Given the description of an element on the screen output the (x, y) to click on. 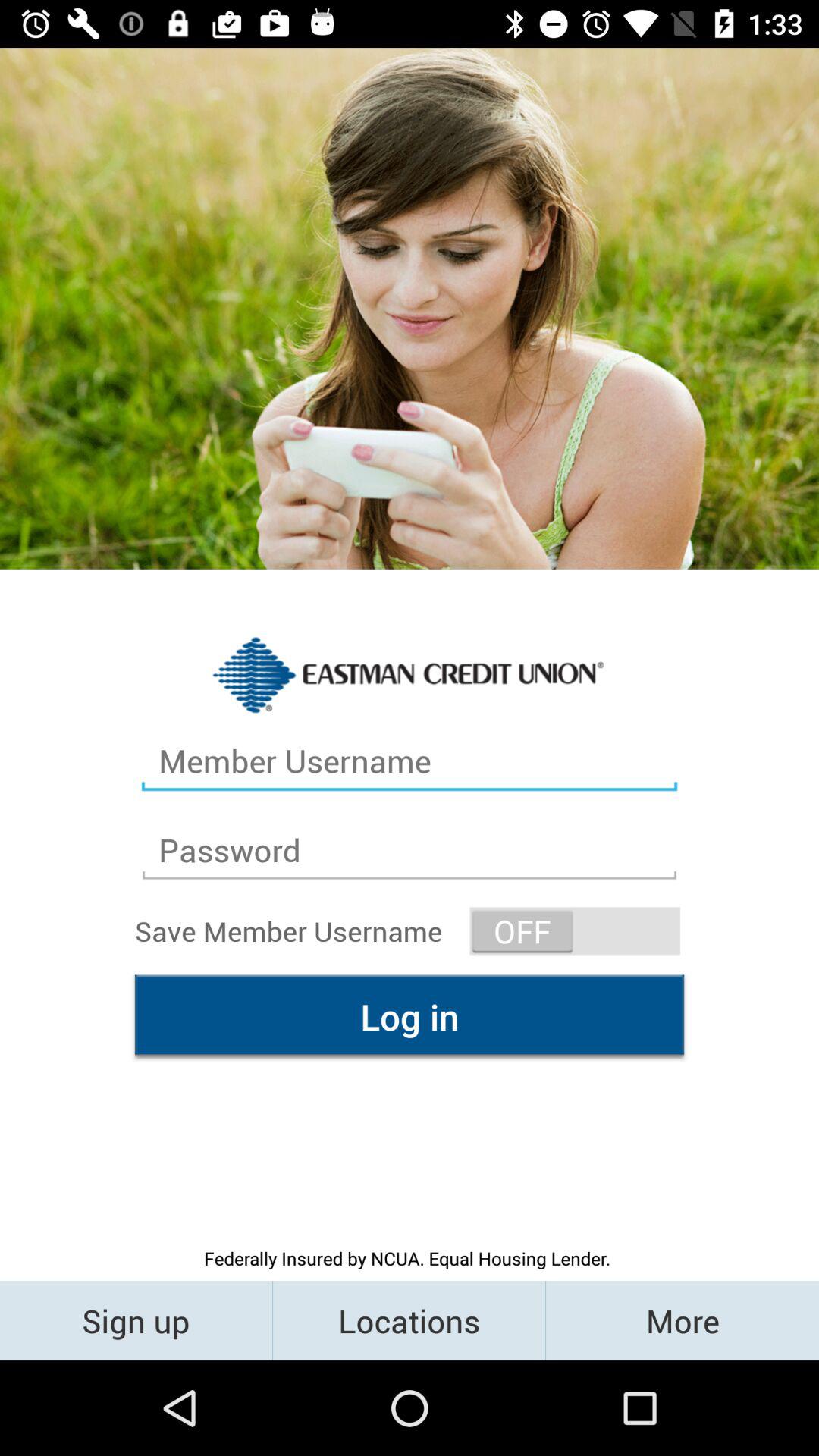
choose item above log in item (574, 930)
